Given the description of an element on the screen output the (x, y) to click on. 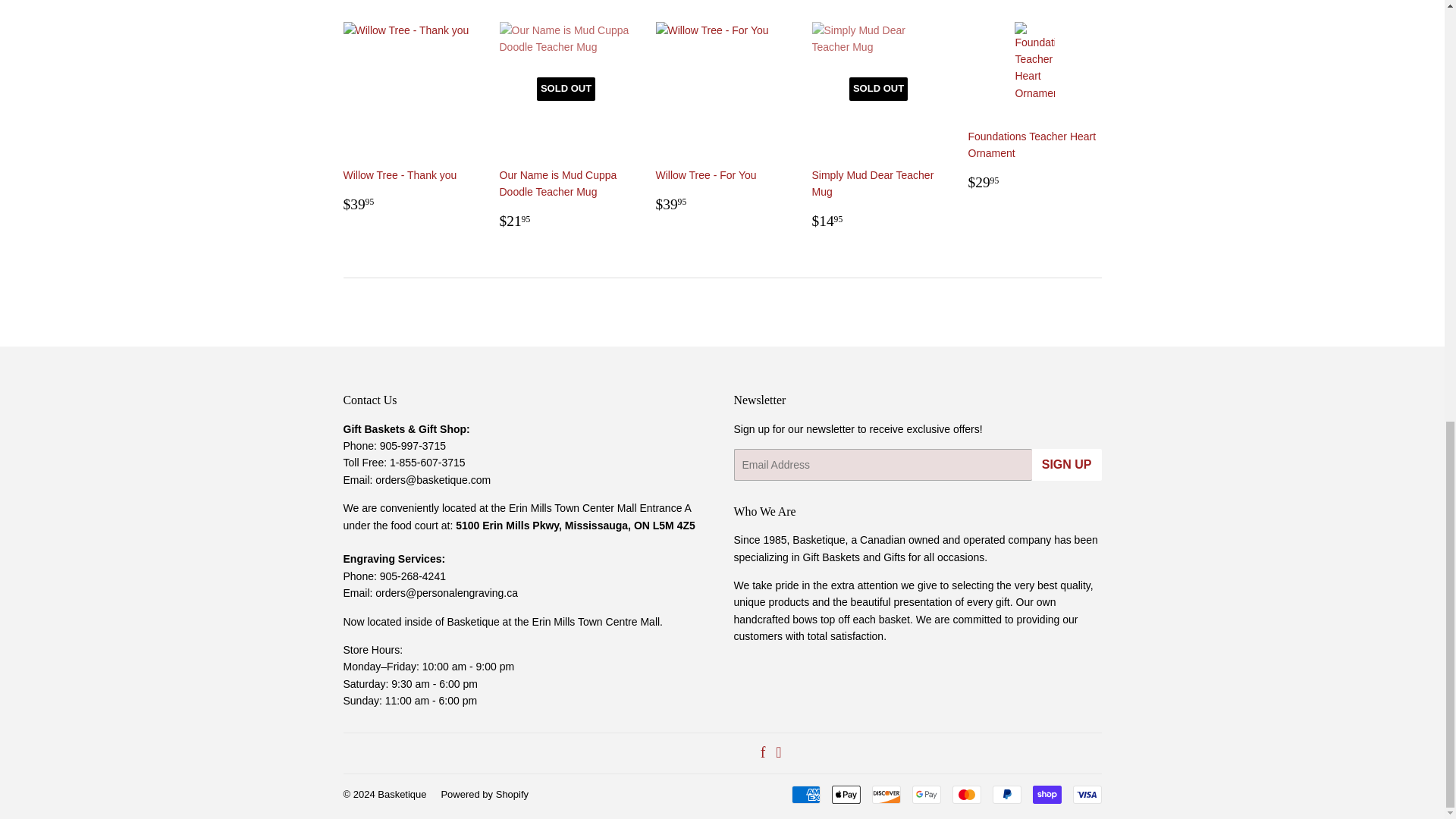
Discover (886, 794)
Basketique on Instagram (778, 753)
Basketique on Facebook (762, 753)
Visa (1085, 794)
Mastercard (966, 794)
Shop Pay (1046, 794)
PayPal (1005, 794)
Apple Pay (845, 794)
Google Pay (925, 794)
American Express (806, 794)
